Given the description of an element on the screen output the (x, y) to click on. 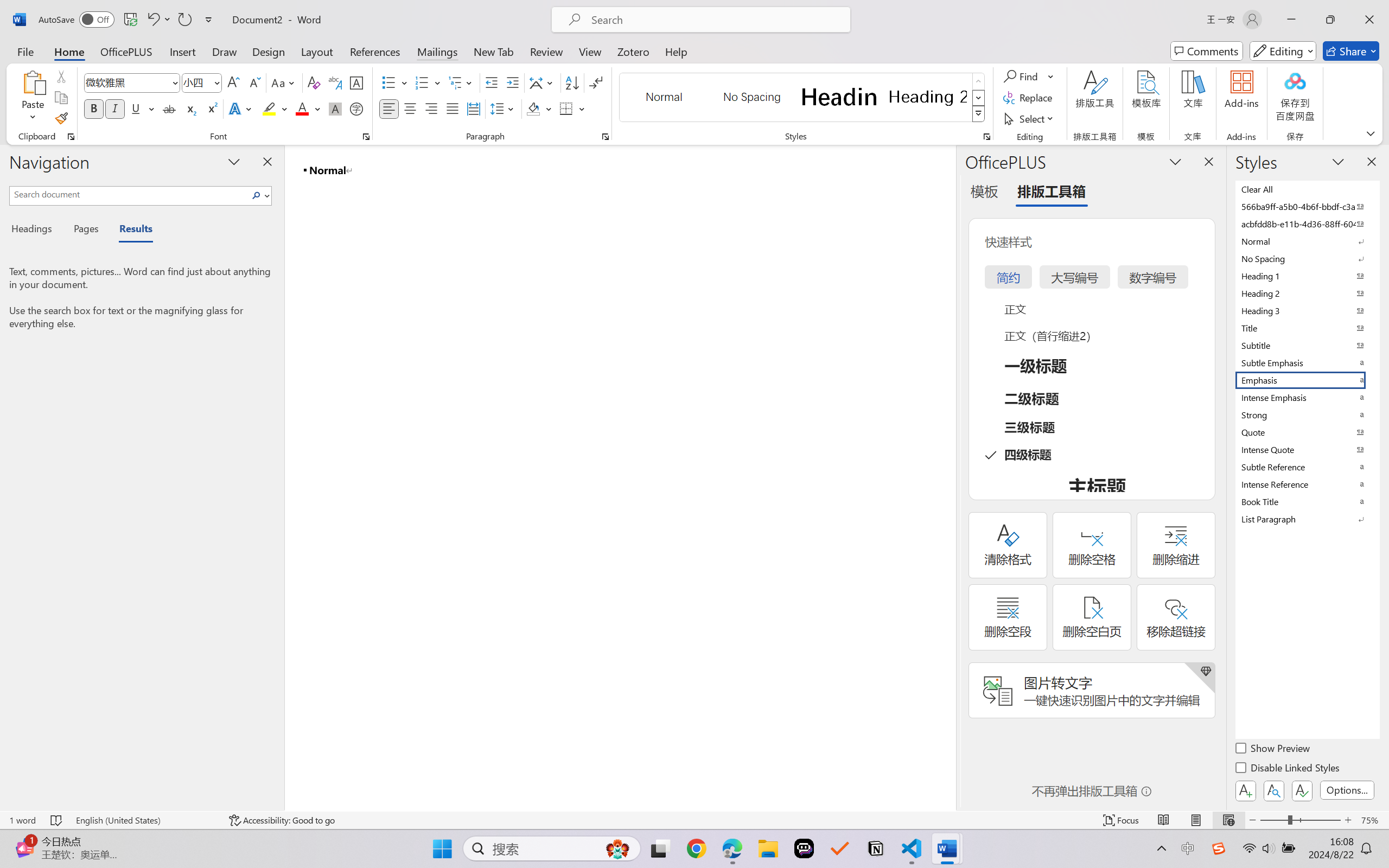
Paragraph... (605, 136)
Subscript (190, 108)
Disable Linked Styles (1287, 769)
AutomationID: DynamicSearchBoxGleamImage (617, 848)
Align Right (431, 108)
OfficePLUS (126, 51)
Numbering (421, 82)
Clear Formatting (313, 82)
Mode (1283, 50)
Borders (566, 108)
Search document (128, 193)
Intense Emphasis (1306, 397)
Read Mode (1163, 819)
Increase Indent (512, 82)
